Given the description of an element on the screen output the (x, y) to click on. 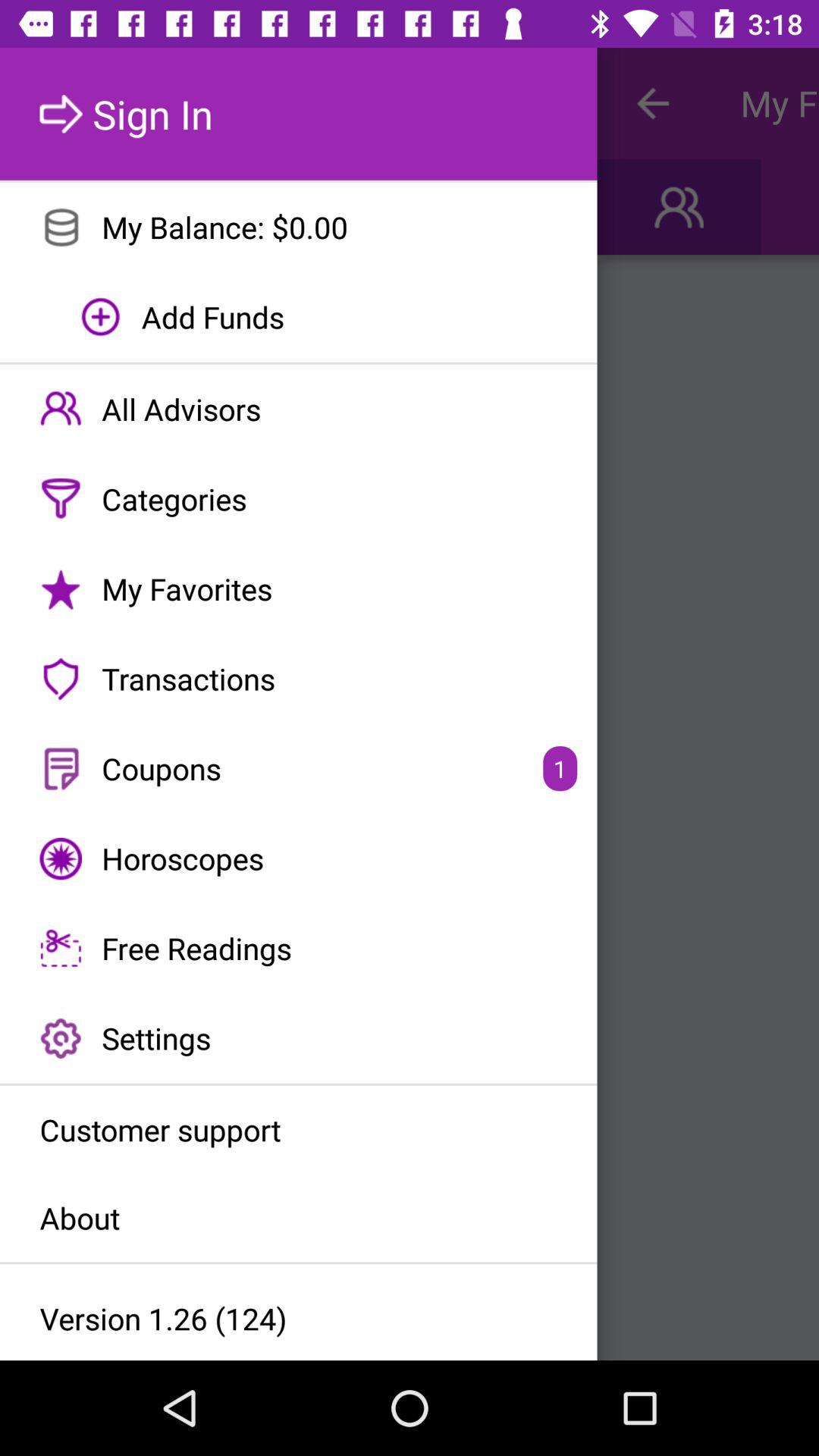
turn on the add funds item (298, 317)
